Given the description of an element on the screen output the (x, y) to click on. 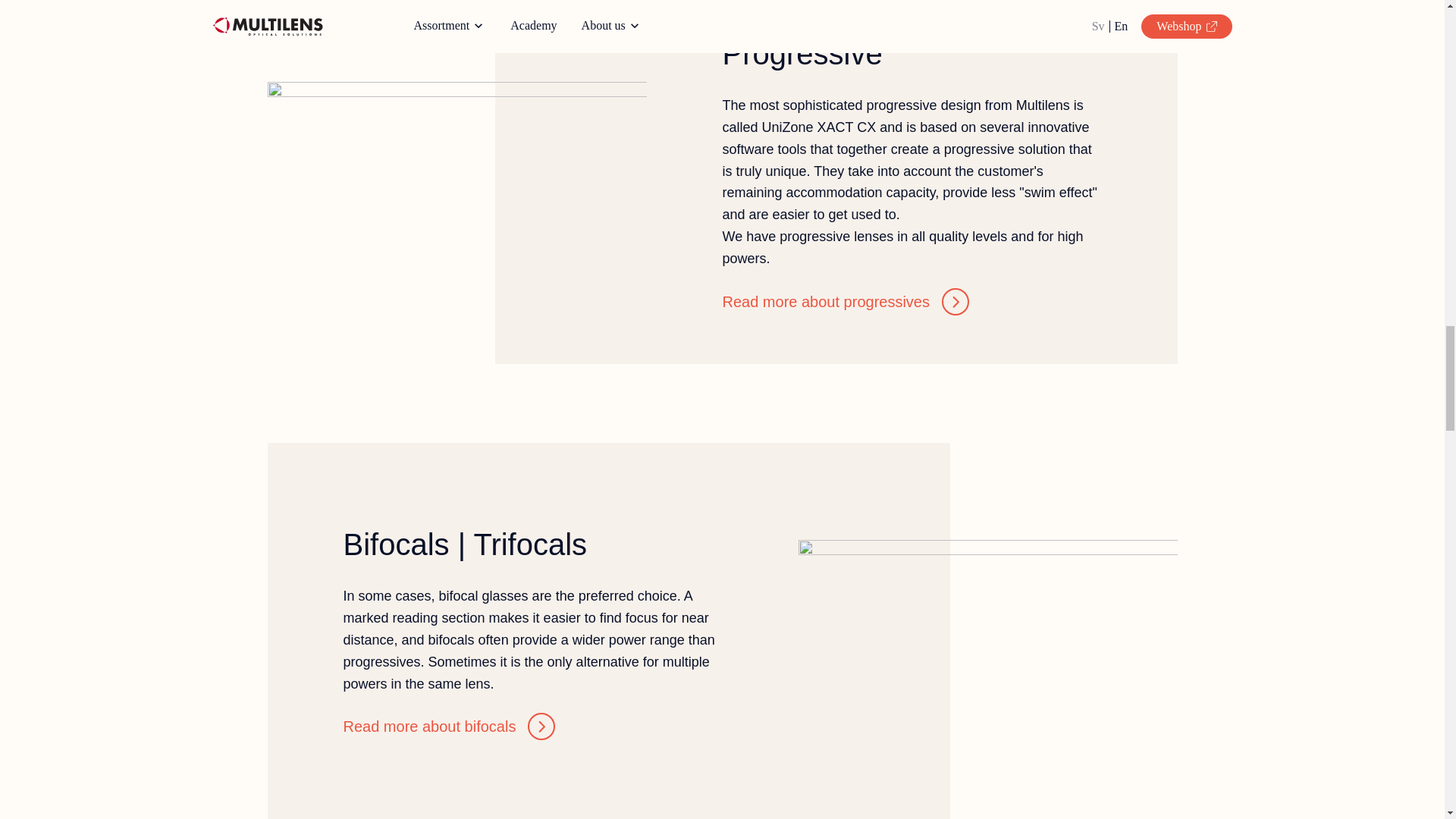
Read more about progressives (845, 301)
Read more about bifocals (448, 726)
